Given the description of an element on the screen output the (x, y) to click on. 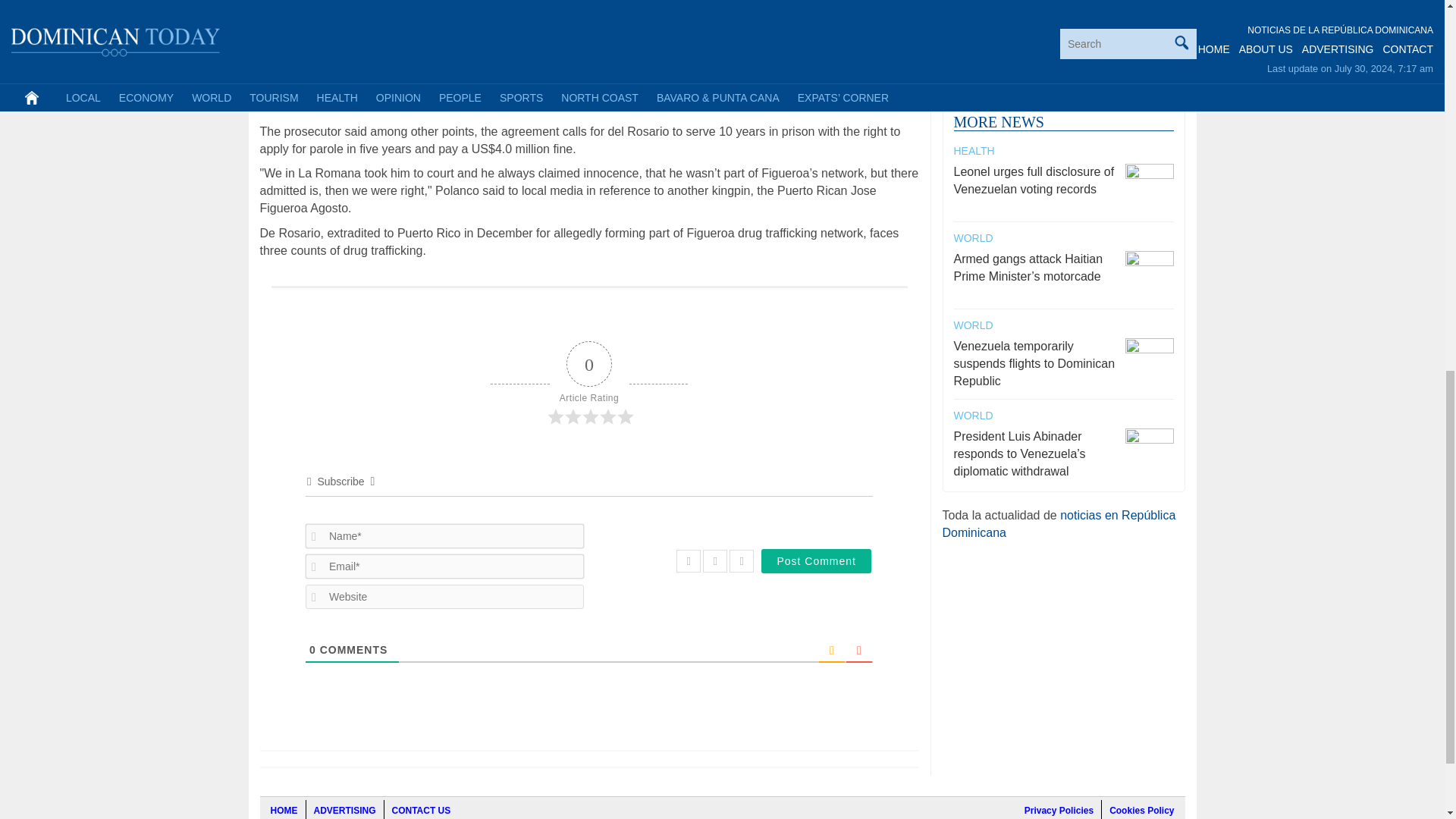
Post Comment (815, 560)
Post Comment (815, 560)
